Given the description of an element on the screen output the (x, y) to click on. 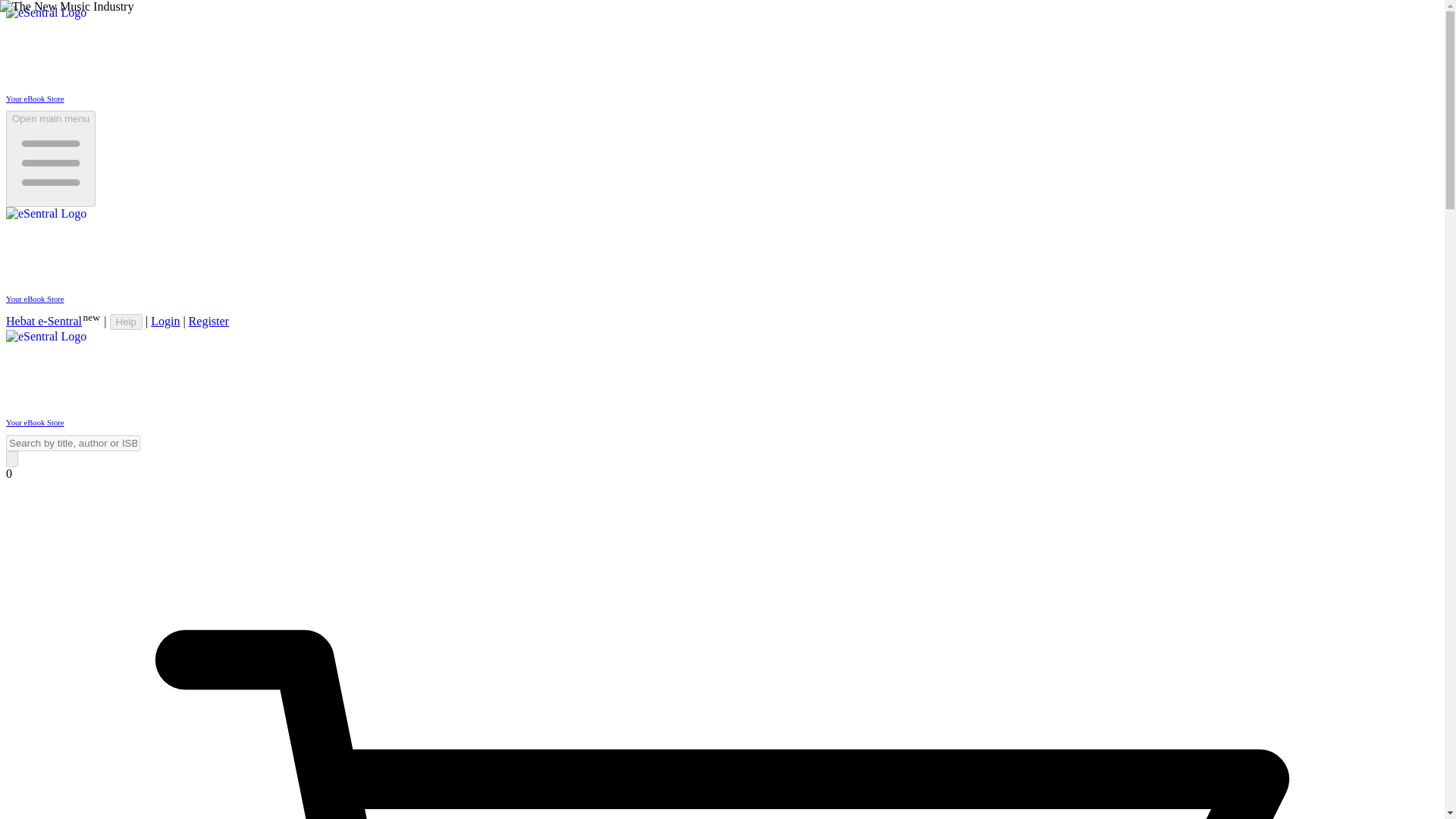
Login (165, 320)
Open main menu (50, 158)
Hebat e-Sentral (43, 320)
Help (126, 321)
Register (208, 320)
